Given the description of an element on the screen output the (x, y) to click on. 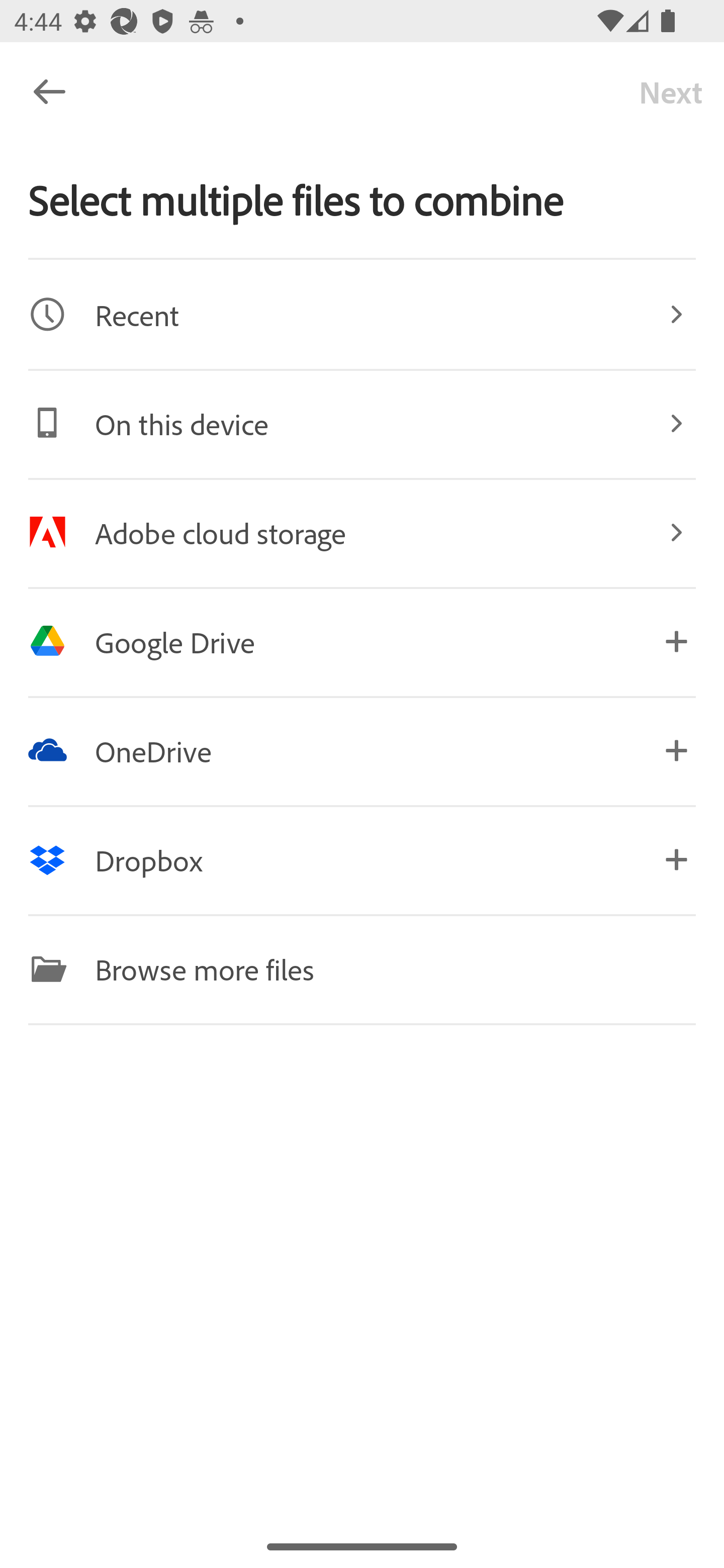
Navigate up (49, 91)
Image Recent (362, 314)
Image On this device (362, 423)
Image Adobe cloud storage (362, 532)
Image Google Drive (362, 641)
Image OneDrive (362, 750)
Image Dropbox (362, 859)
Image Browse more files (362, 968)
